Given the description of an element on the screen output the (x, y) to click on. 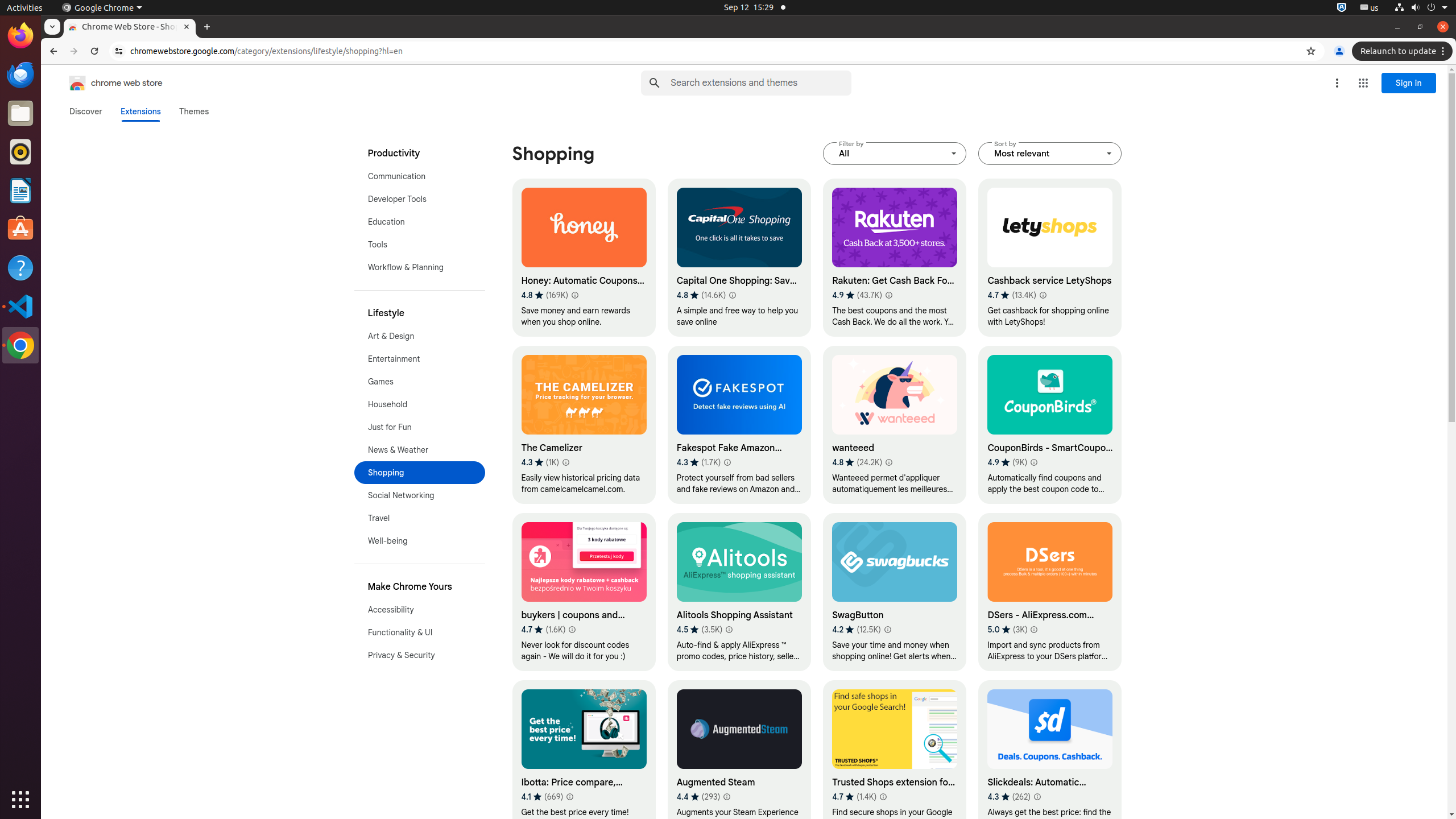
Games Element type: menu-item (419, 381)
Learn more about results and reviews "CouponBirds - SmartCoupon Coupon Finder" Element type: push-button (1033, 462)
Entertainment Element type: menu-item (419, 358)
:1.72/StatusNotifierItem Element type: menu (1341, 7)
LibreOffice Writer Element type: push-button (20, 190)
